Given the description of an element on the screen output the (x, y) to click on. 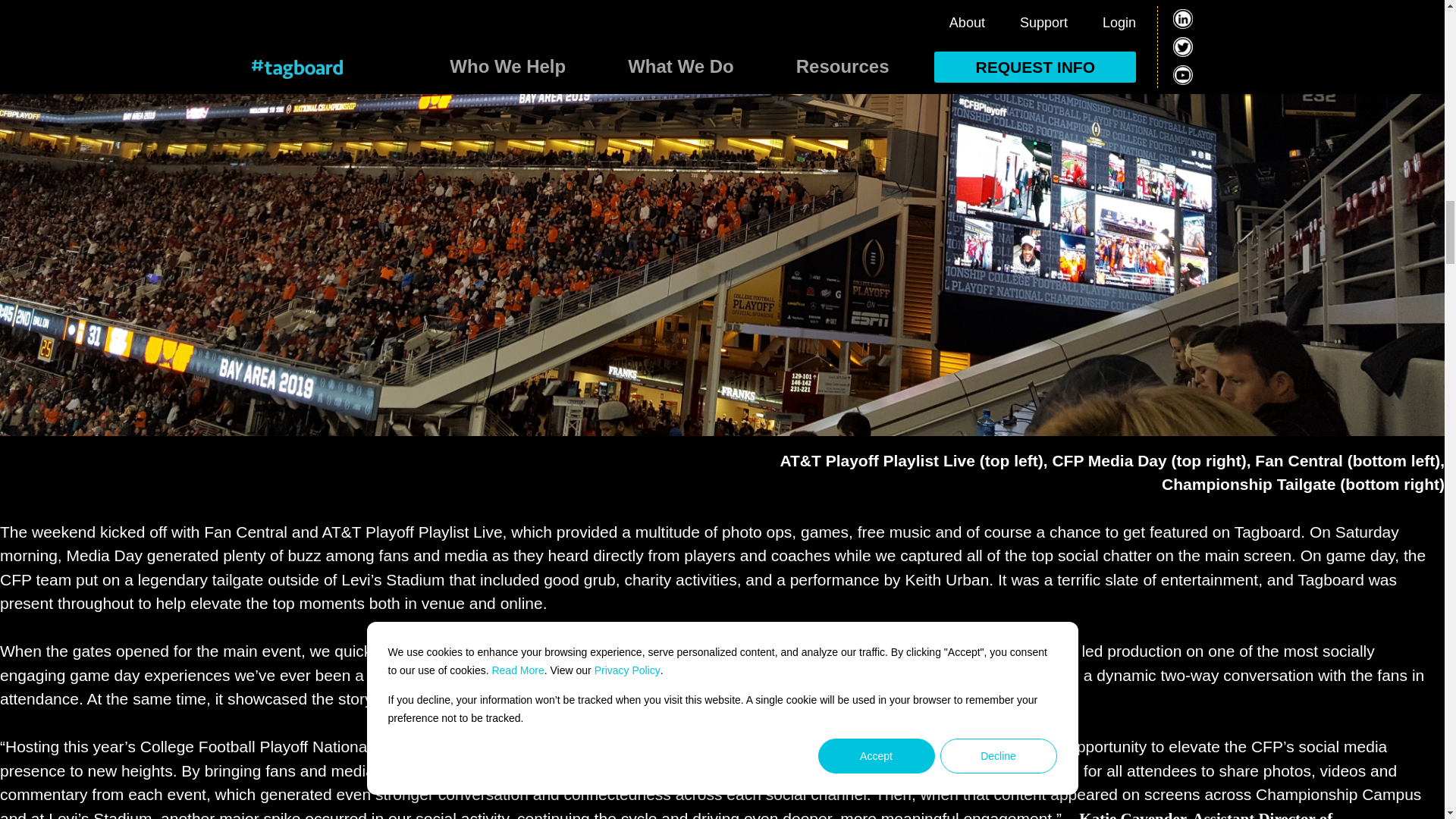
online (521, 602)
